Given the description of an element on the screen output the (x, y) to click on. 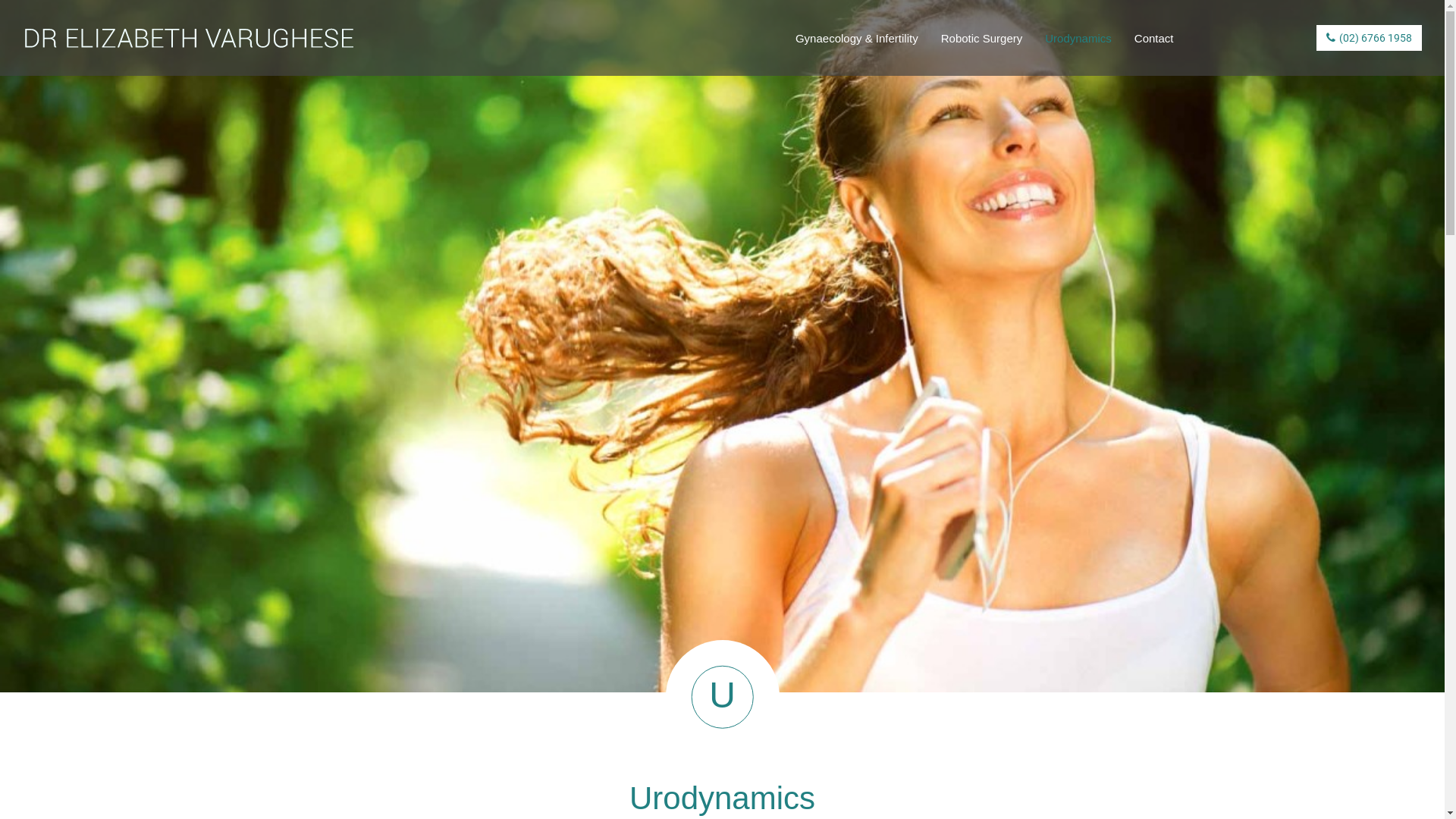
Contact Element type: text (1154, 38)
Gynaecology & Infertility Element type: text (856, 38)
Robotic Surgery Element type: text (981, 38)
Urodynamics Element type: text (1078, 38)
(02) 6766 1958 Element type: text (1368, 37)
